Given the description of an element on the screen output the (x, y) to click on. 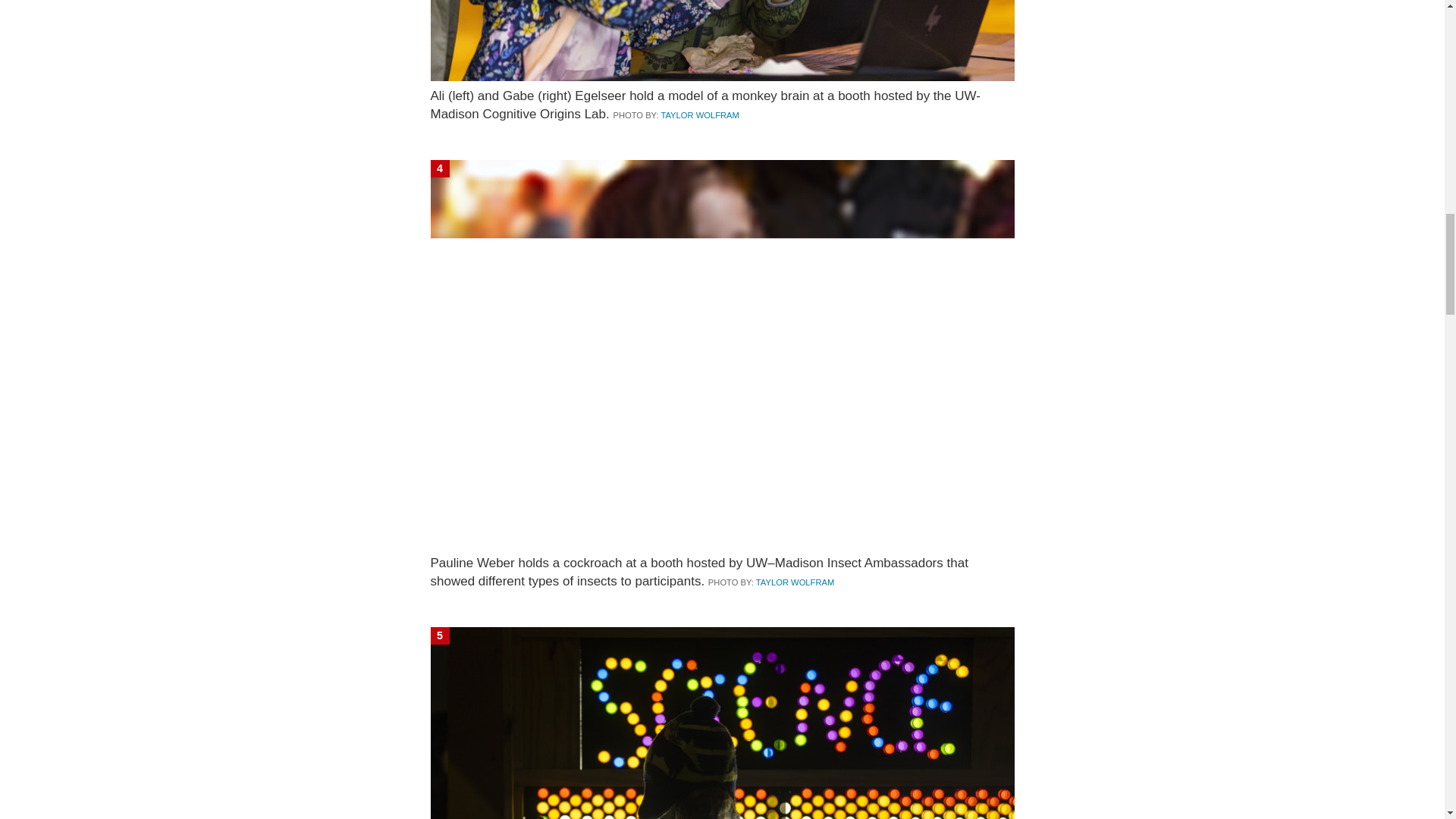
TAYLOR WOLFRAM (794, 582)
TAYLOR WOLFRAM (699, 114)
